Given the description of an element on the screen output the (x, y) to click on. 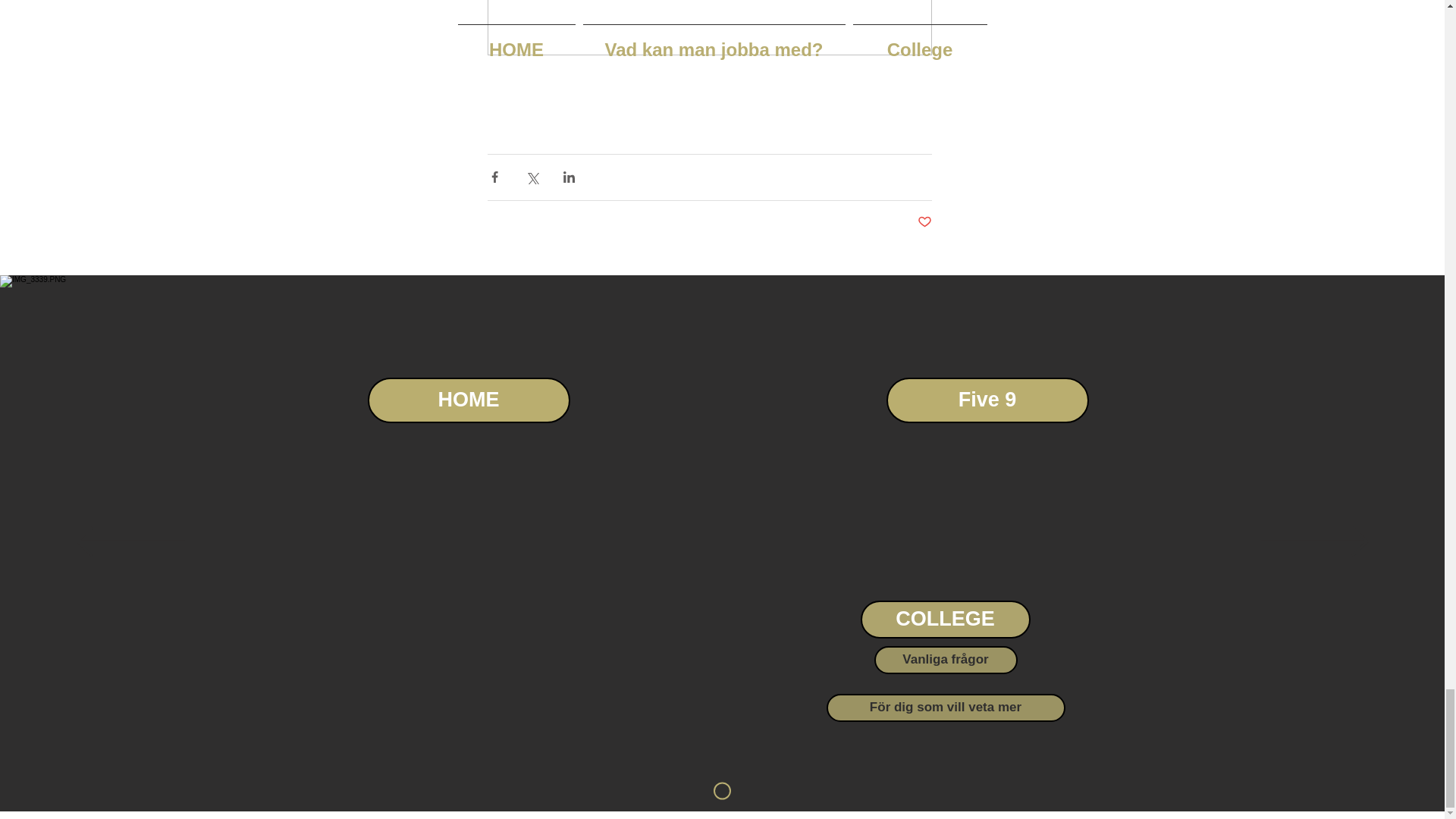
HOME (467, 400)
COLLEGE (944, 619)
Post not marked as liked (924, 222)
Five 9 (986, 400)
